Given the description of an element on the screen output the (x, y) to click on. 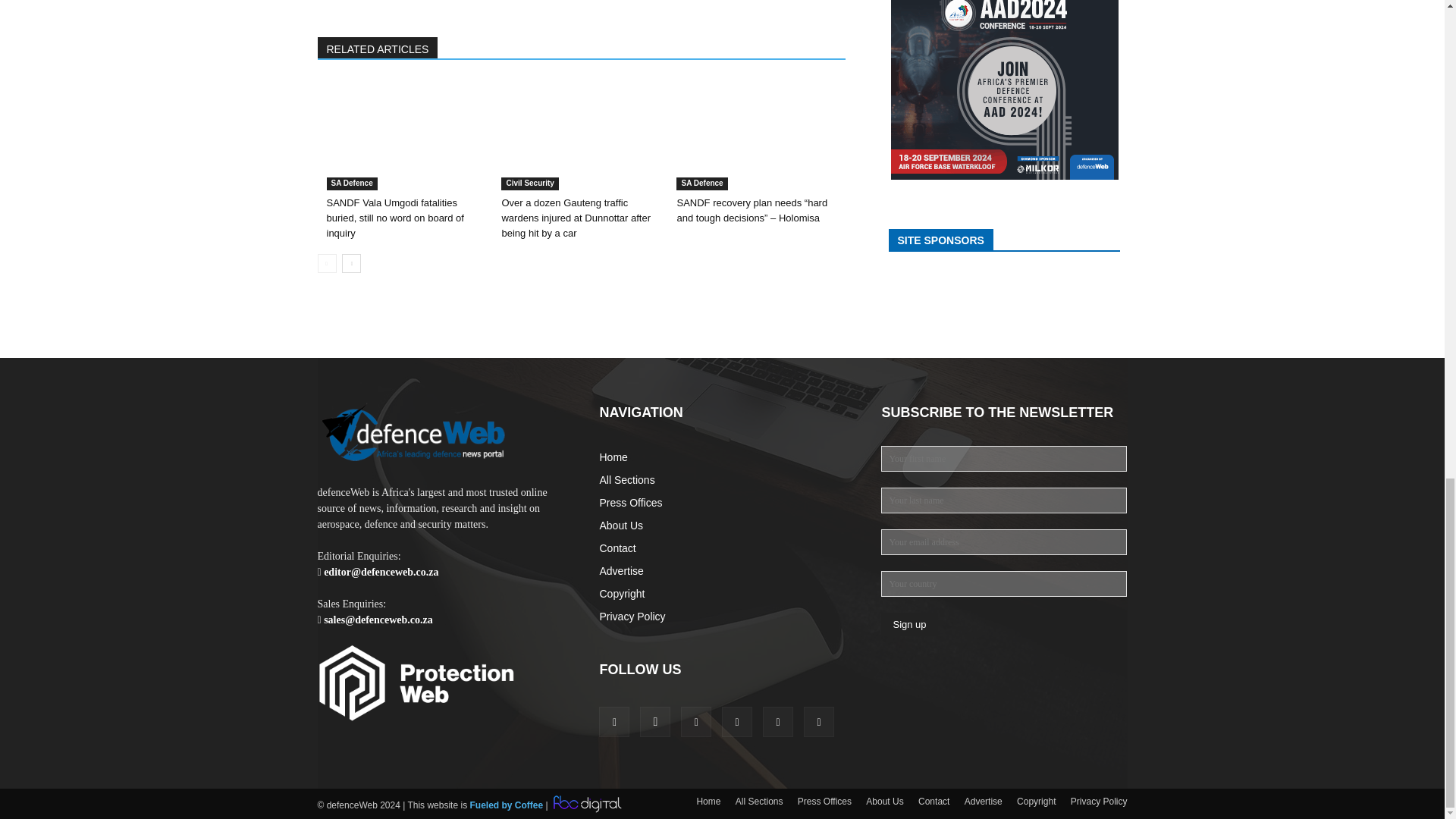
Sign up (908, 624)
